Given the description of an element on the screen output the (x, y) to click on. 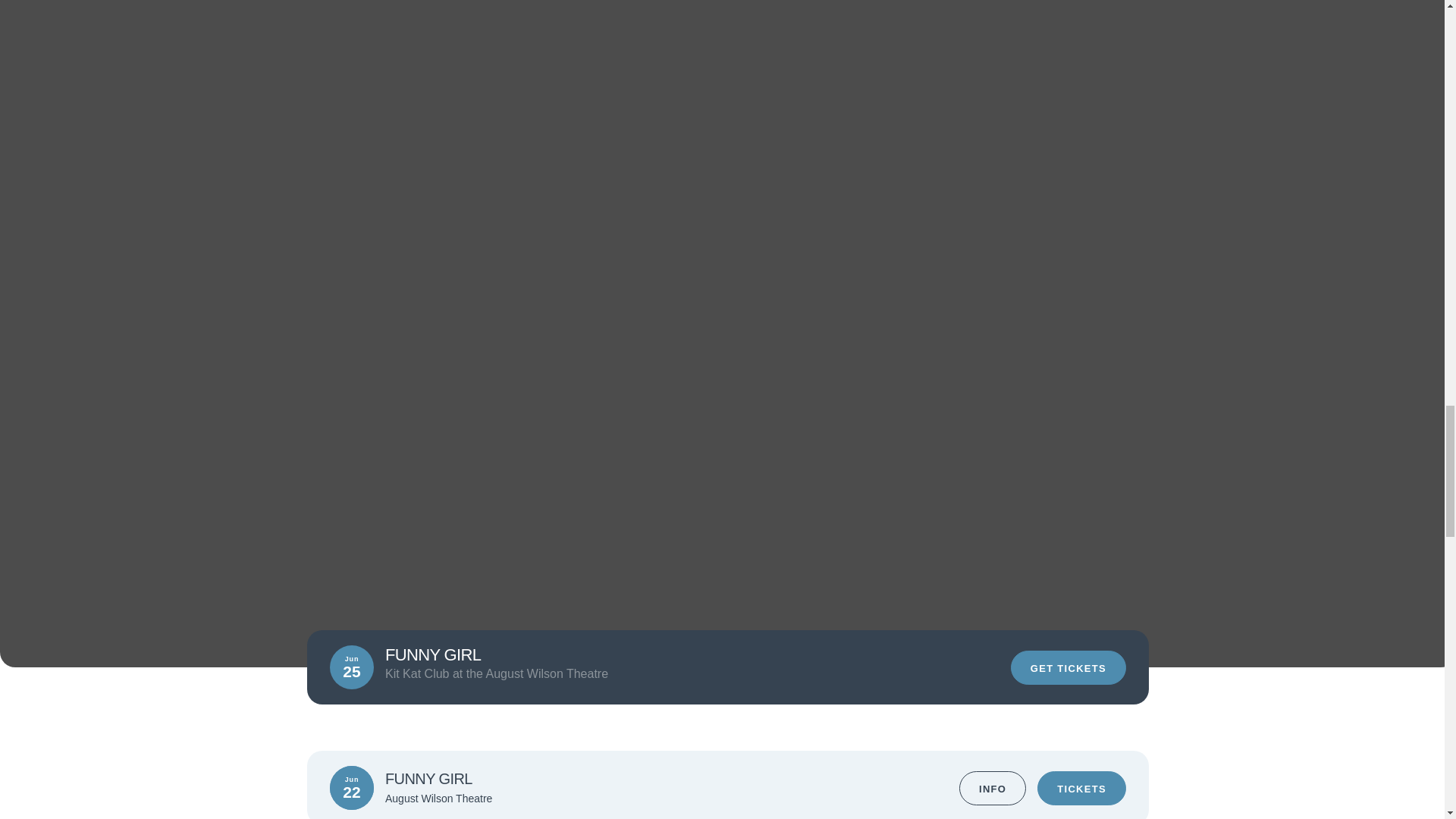
INFO (992, 787)
Funny Girl at August Wilson Theatre tickets (727, 60)
TICKETS (1080, 787)
GET TICKETS (1067, 667)
